Given the description of an element on the screen output the (x, y) to click on. 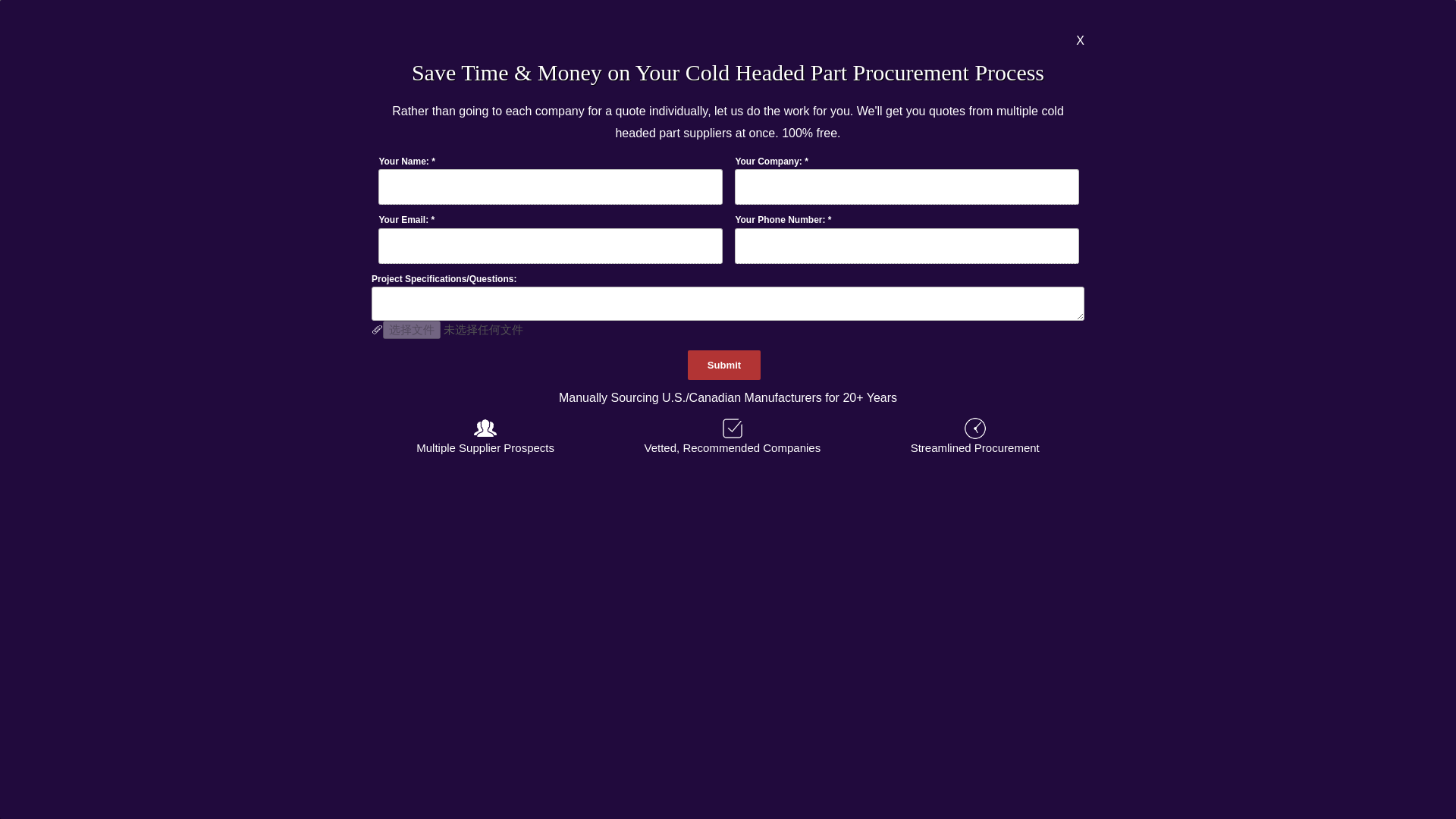
Fasteners (235, 133)
Powder Metallurgy (727, 133)
Self-Drilling Screws (1220, 133)
